Given the description of an element on the screen output the (x, y) to click on. 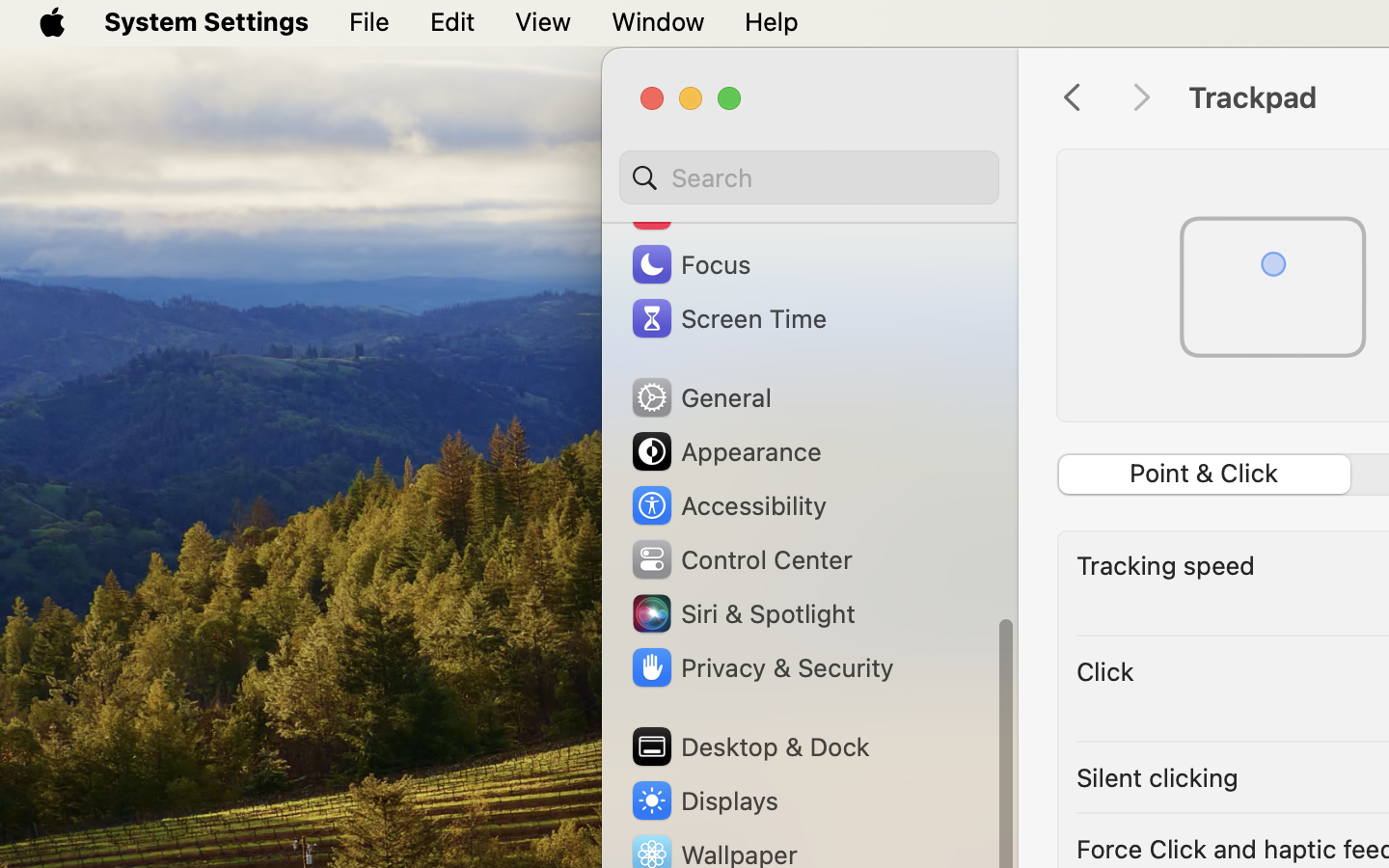
Silent clicking Element type: AXStaticText (1157, 776)
Sound Element type: AXStaticText (692, 210)
Privacy & Security Element type: AXStaticText (760, 667)
Screen Time Element type: AXStaticText (727, 318)
Appearance Element type: AXStaticText (724, 451)
